Given the description of an element on the screen output the (x, y) to click on. 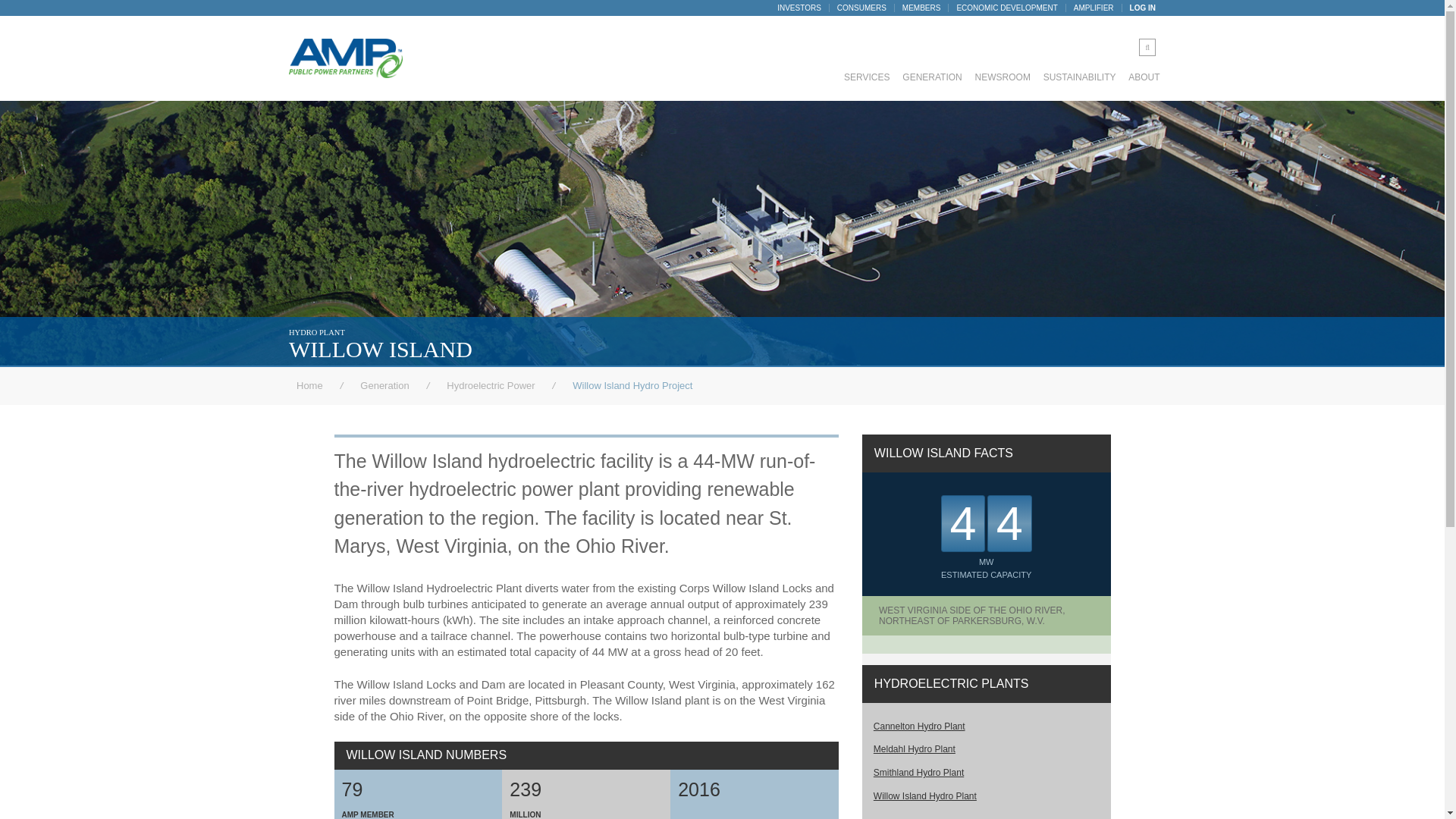
CONSUMERS (857, 8)
American Municipal Power (345, 57)
MEMBERS (916, 8)
SERVICES (867, 77)
Search (20, 10)
INVESTORS (799, 8)
LOG IN (1138, 8)
AMPLIFIER (1089, 8)
ECONOMIC DEVELOPMENT (1002, 8)
